Given the description of an element on the screen output the (x, y) to click on. 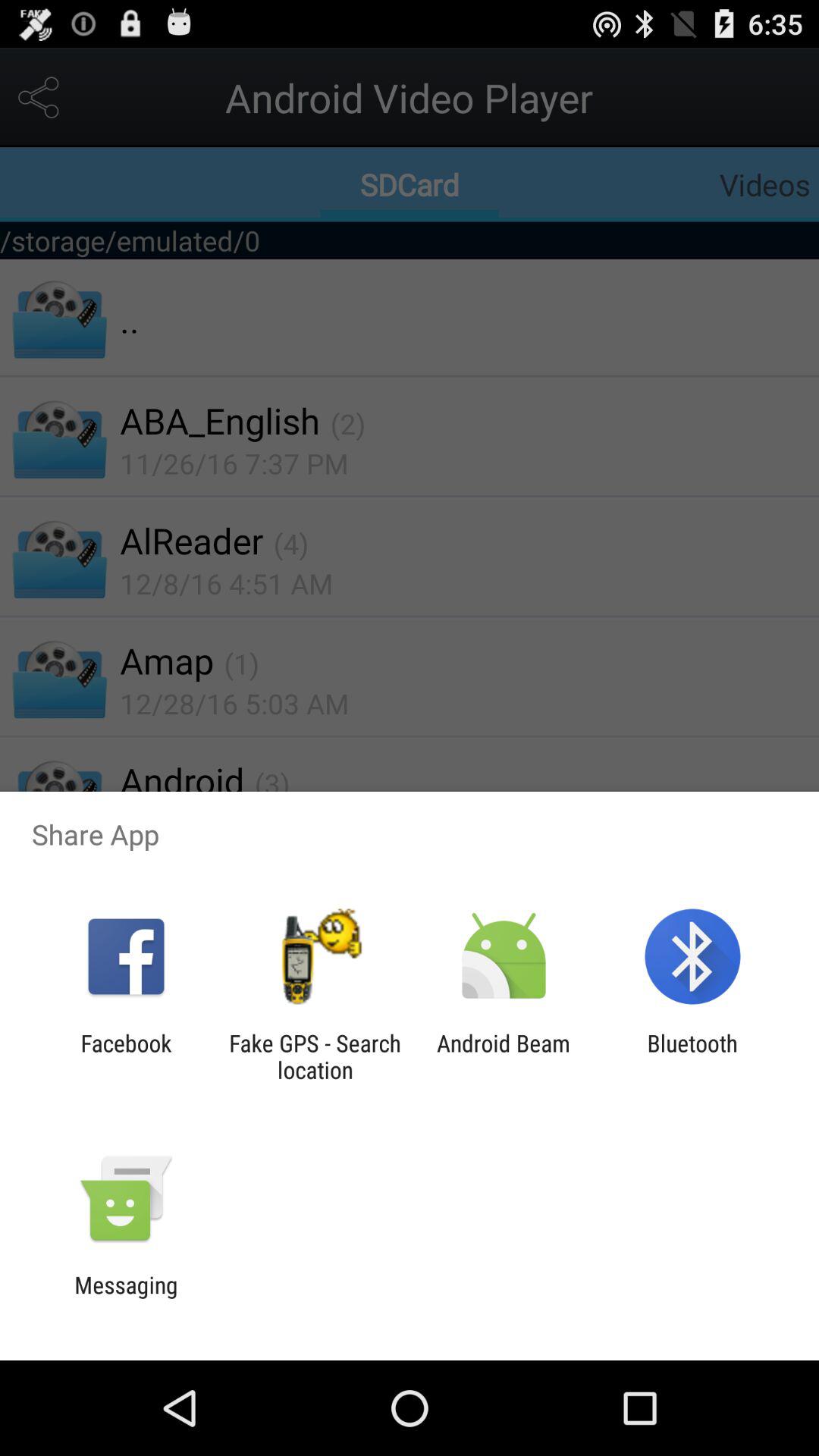
click app next to bluetooth (503, 1056)
